Given the description of an element on the screen output the (x, y) to click on. 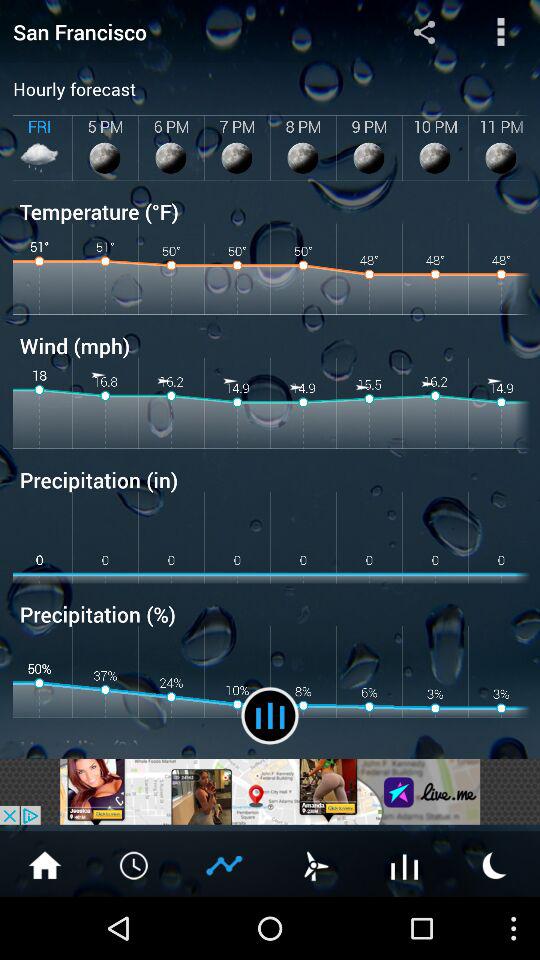
check wind (315, 864)
